Given the description of an element on the screen output the (x, y) to click on. 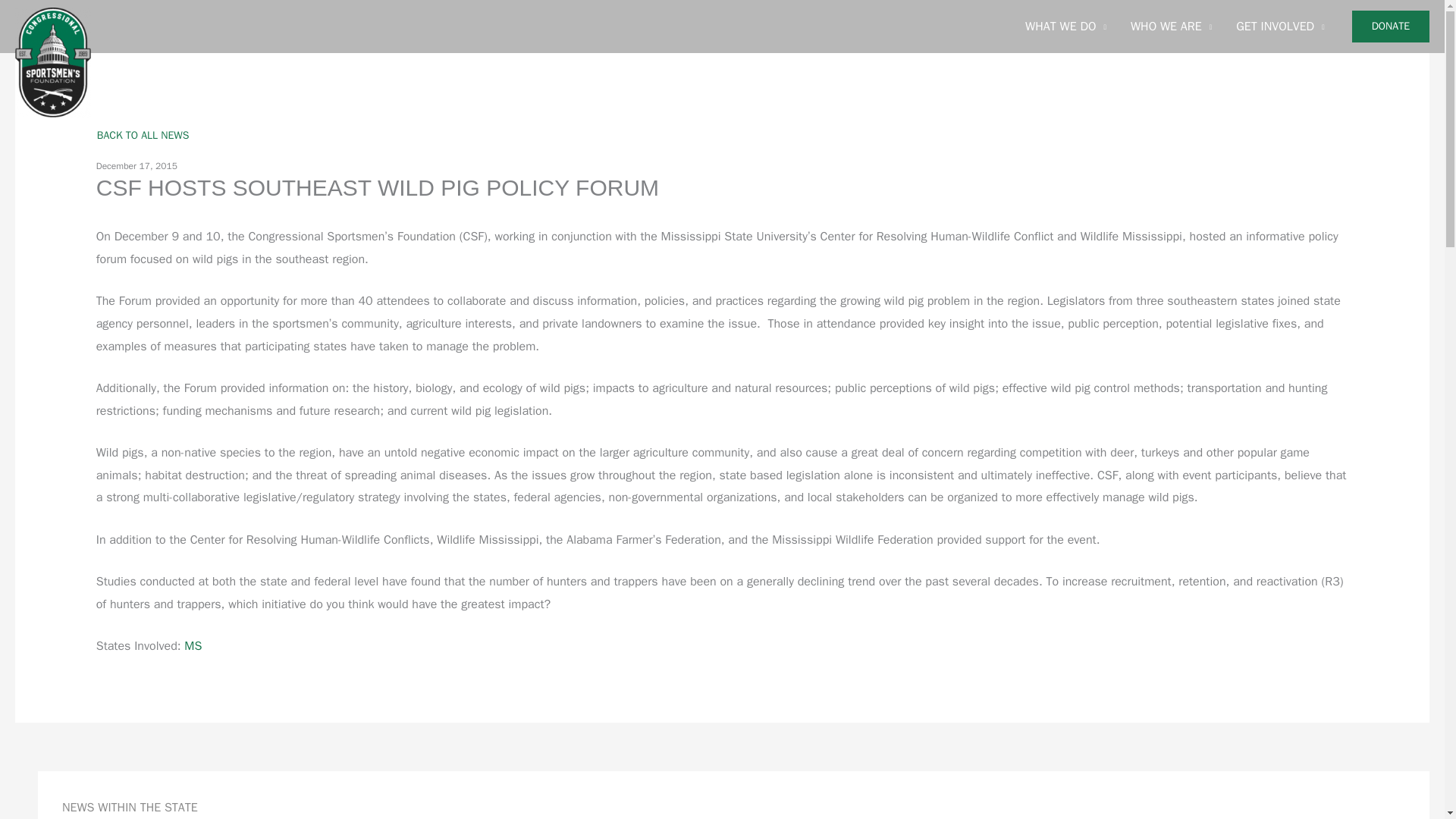
WHAT WE DO (1065, 26)
DONATE (1390, 26)
WHO WE ARE (1171, 26)
BACK TO ALL NEWS (143, 134)
GET INVOLVED (1280, 26)
MS (193, 645)
